Given the description of an element on the screen output the (x, y) to click on. 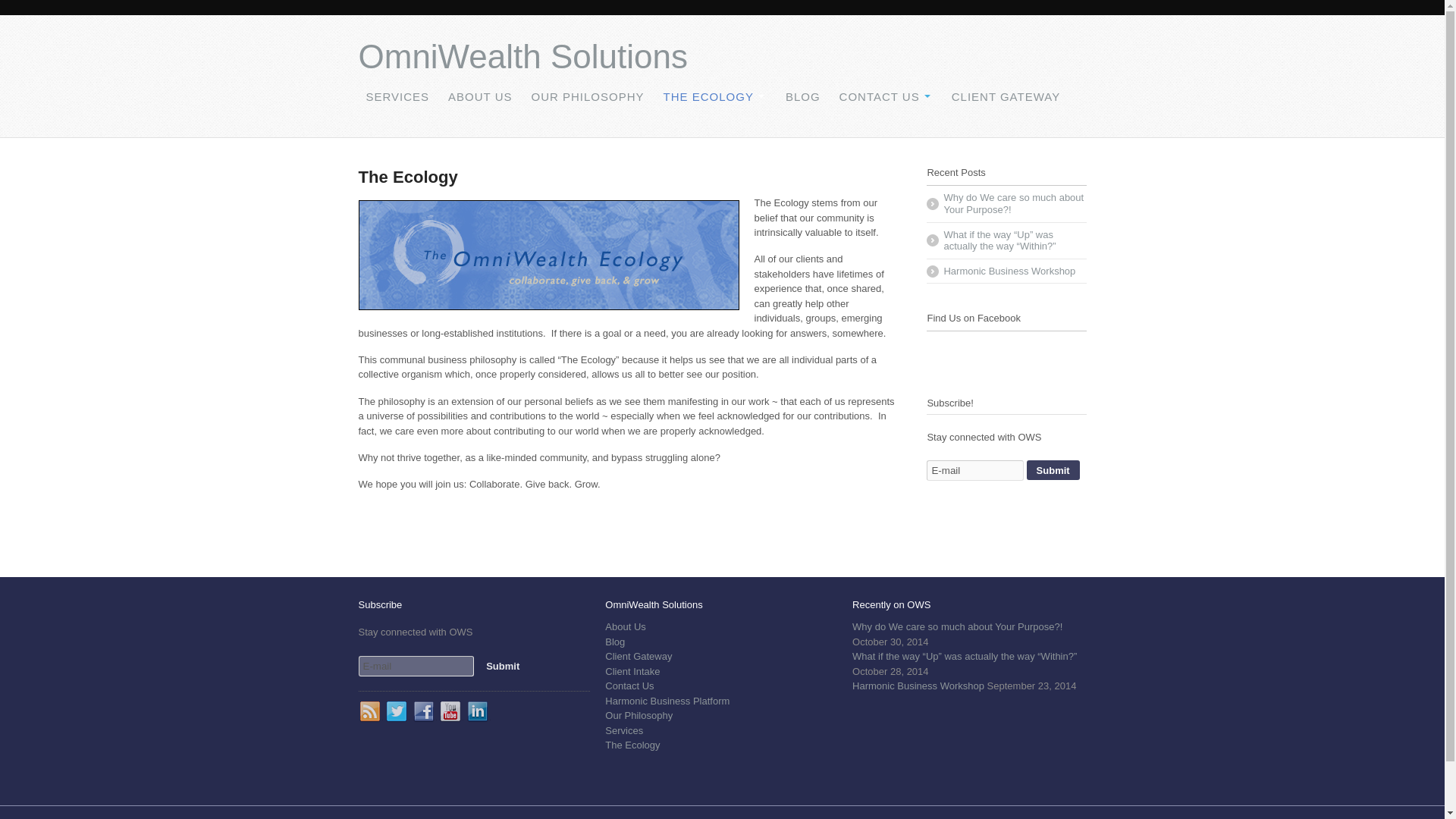
Our Philosophy (638, 715)
CLIENT GATEWAY (1005, 96)
Harmonic Business Platform (667, 700)
Facebook (424, 711)
Submit (502, 665)
Submit (1053, 469)
Submit (502, 665)
Client Gateway (638, 655)
OUR PHILOSOPHY (586, 96)
RSS (369, 711)
The Ecology (632, 745)
Services (624, 730)
Harmonic Business Workshop (1006, 271)
E-mail (974, 470)
OmniWealth Solutions (522, 56)
